Given the description of an element on the screen output the (x, y) to click on. 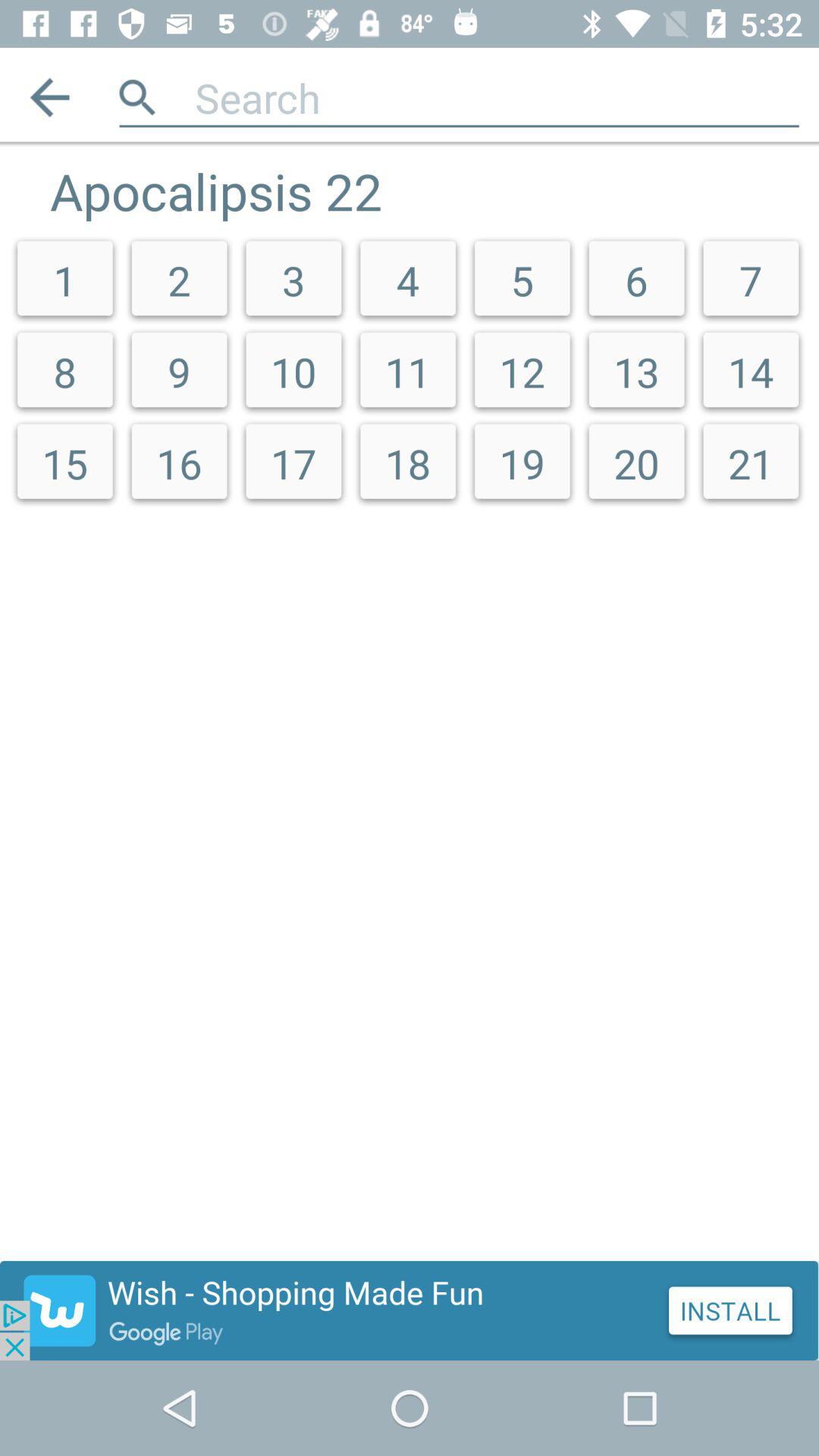
click the advertisement at bottom (409, 1310)
